Given the description of an element on the screen output the (x, y) to click on. 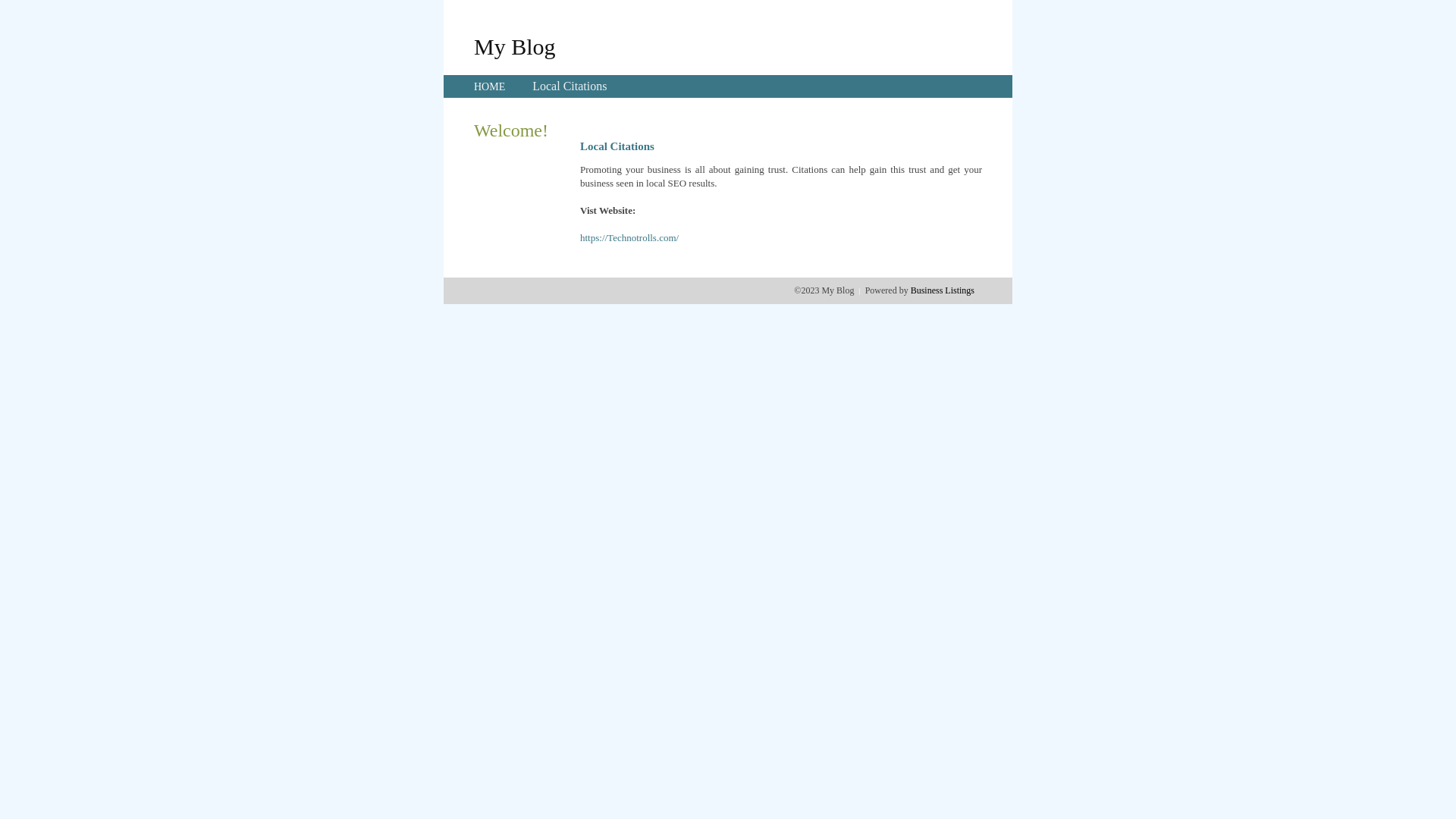
Local Citations Element type: text (569, 85)
Business Listings Element type: text (942, 290)
HOME Element type: text (489, 86)
https://Technotrolls.com/ Element type: text (629, 237)
My Blog Element type: text (514, 46)
